Given the description of an element on the screen output the (x, y) to click on. 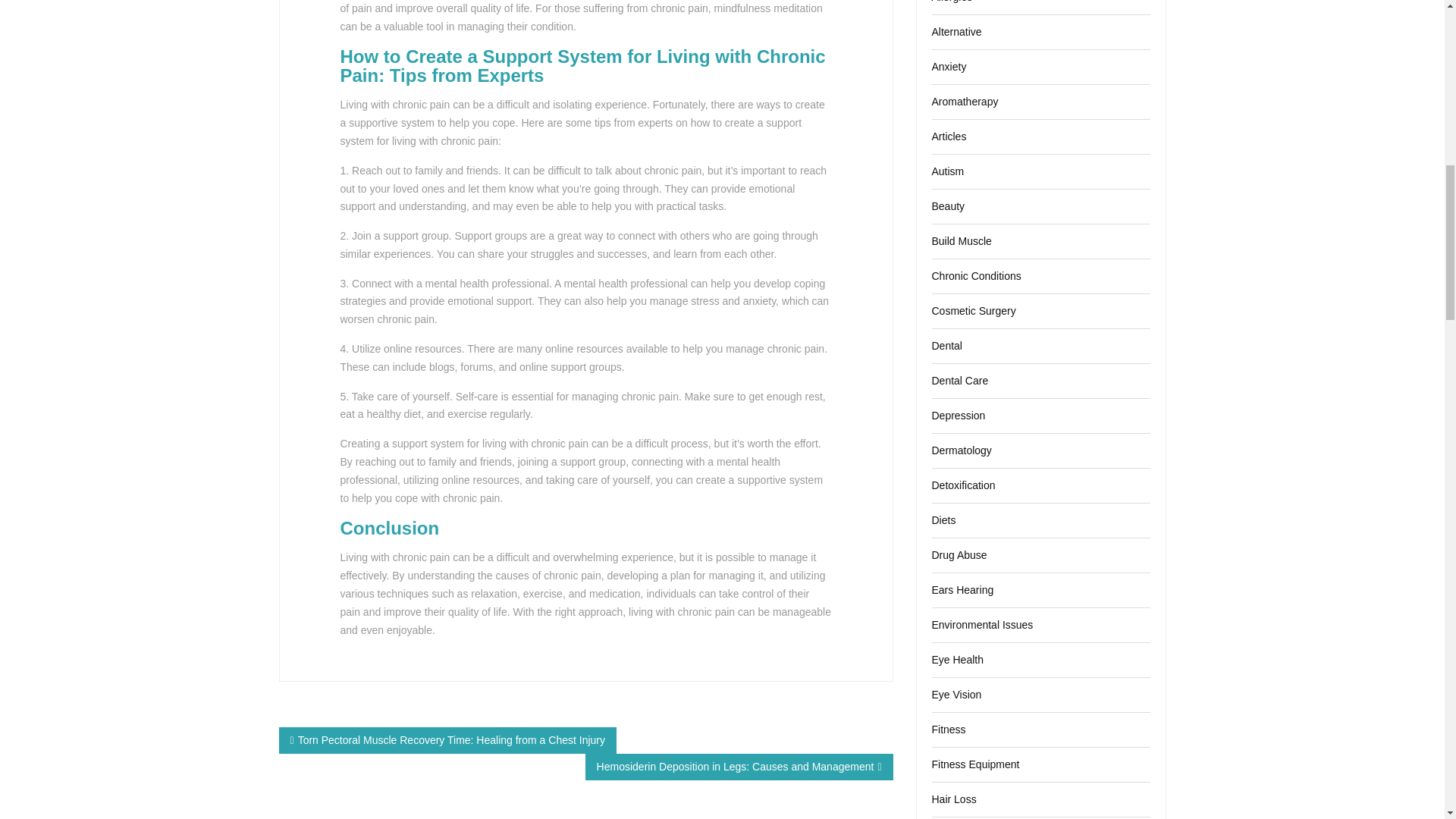
Dermatology (961, 450)
Autism (947, 171)
Cosmetic Surgery (972, 310)
Aromatherapy (964, 101)
Dental (945, 345)
Drug Abuse (959, 554)
Dental Care (959, 380)
Chronic Conditions (975, 275)
Beauty (947, 205)
Eye Health (956, 659)
Diets (943, 520)
Ears Hearing (961, 589)
Articles (948, 136)
Anxiety (948, 66)
